Given the description of an element on the screen output the (x, y) to click on. 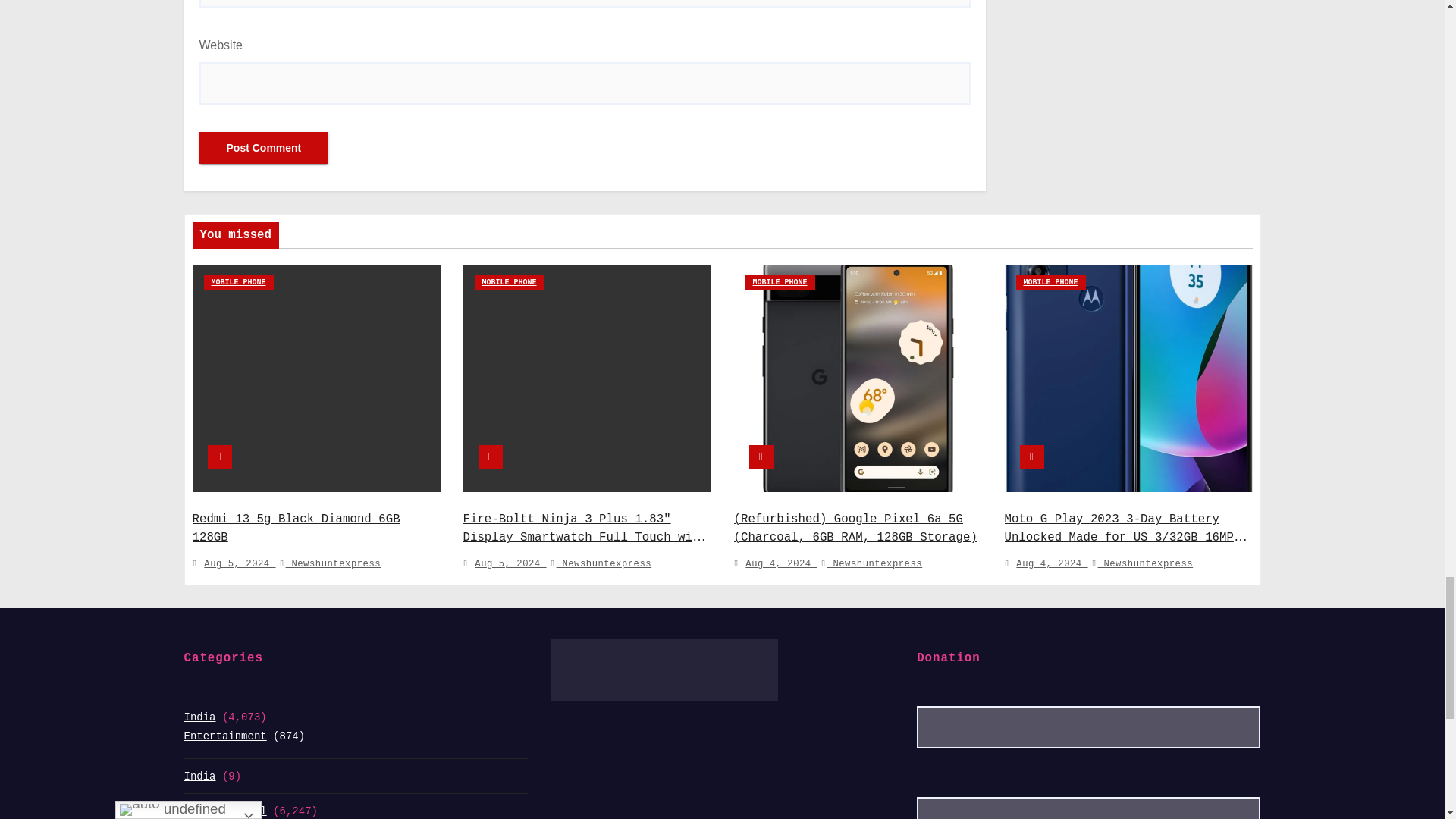
Post Comment (263, 147)
